Given the description of an element on the screen output the (x, y) to click on. 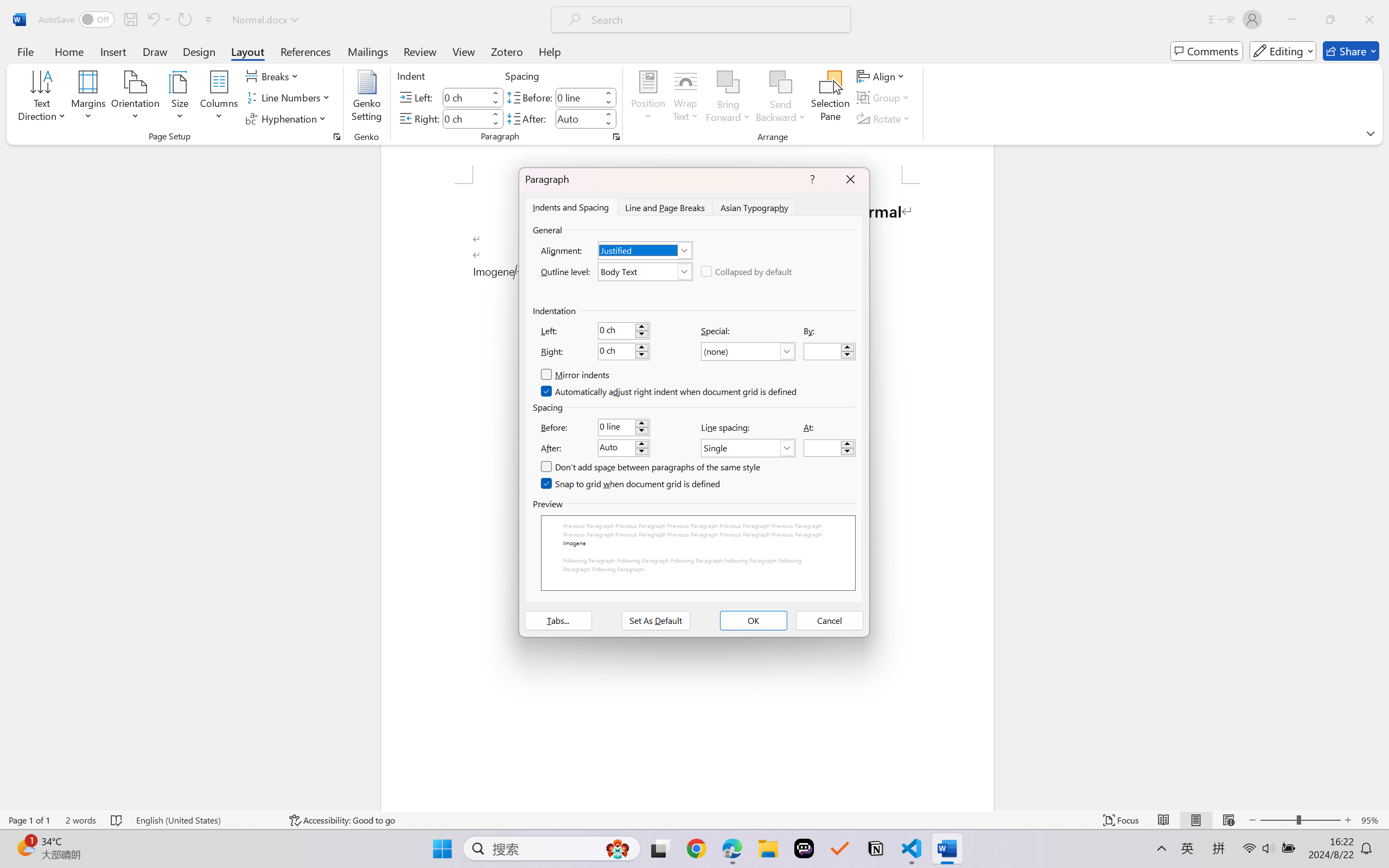
Spacing Before (578, 96)
After: (623, 447)
Spacing After (578, 118)
Margins (88, 97)
Text Direction (42, 97)
RichEdit Control (822, 447)
Send Backward (781, 97)
